Given the description of an element on the screen output the (x, y) to click on. 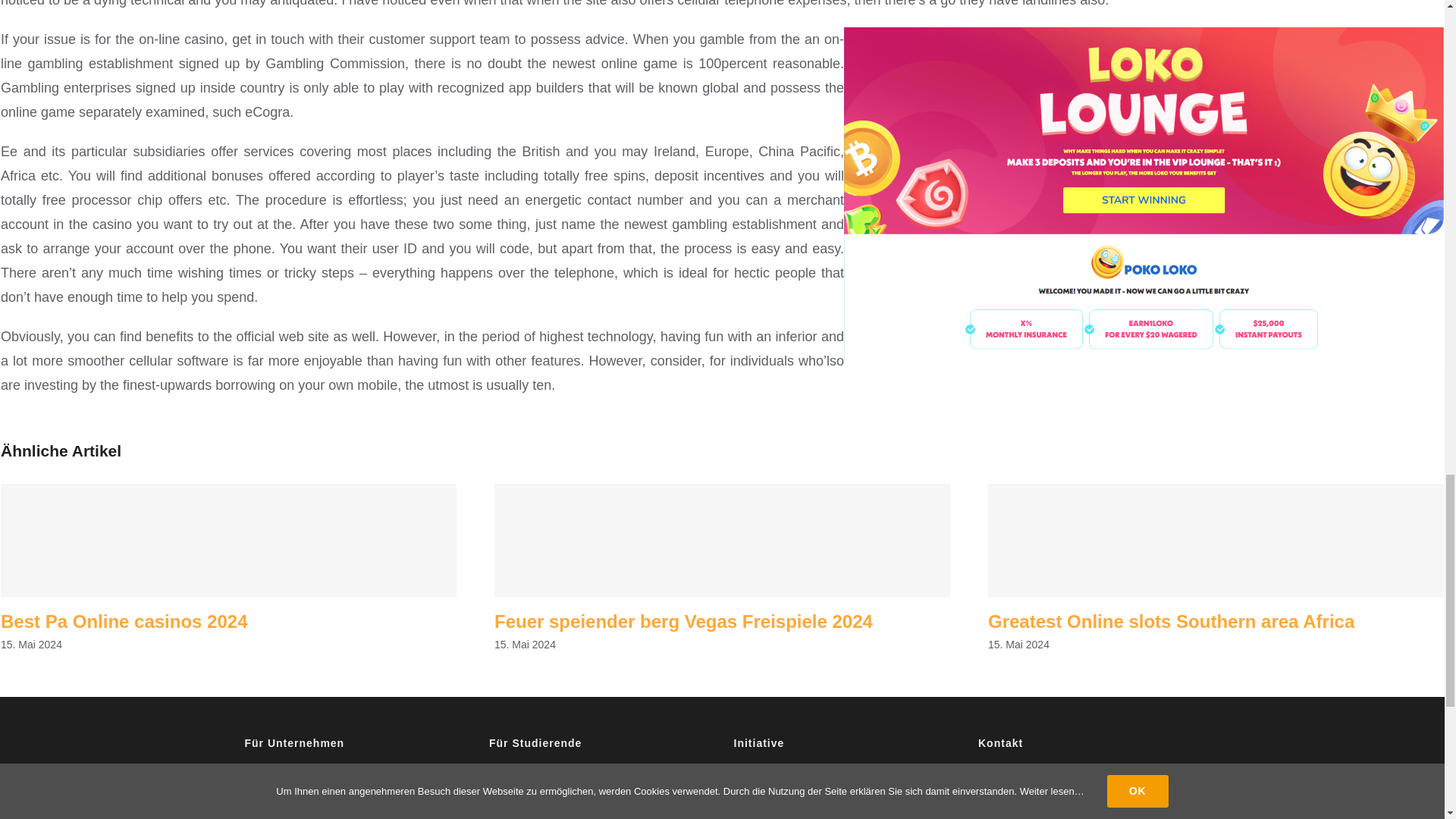
Greatest Online slots Southern area Africa (1171, 620)
X-TALK (355, 816)
Best Pa Online casinos 2024 (124, 620)
Greatest Online slots Southern area Africa (1171, 620)
Best Pa Online casinos 2024 (124, 620)
Feuer speiender berg Vegas Freispiele 2024 (683, 620)
Feuer speiender berg Vegas Freispiele 2024 (683, 620)
